Given the description of an element on the screen output the (x, y) to click on. 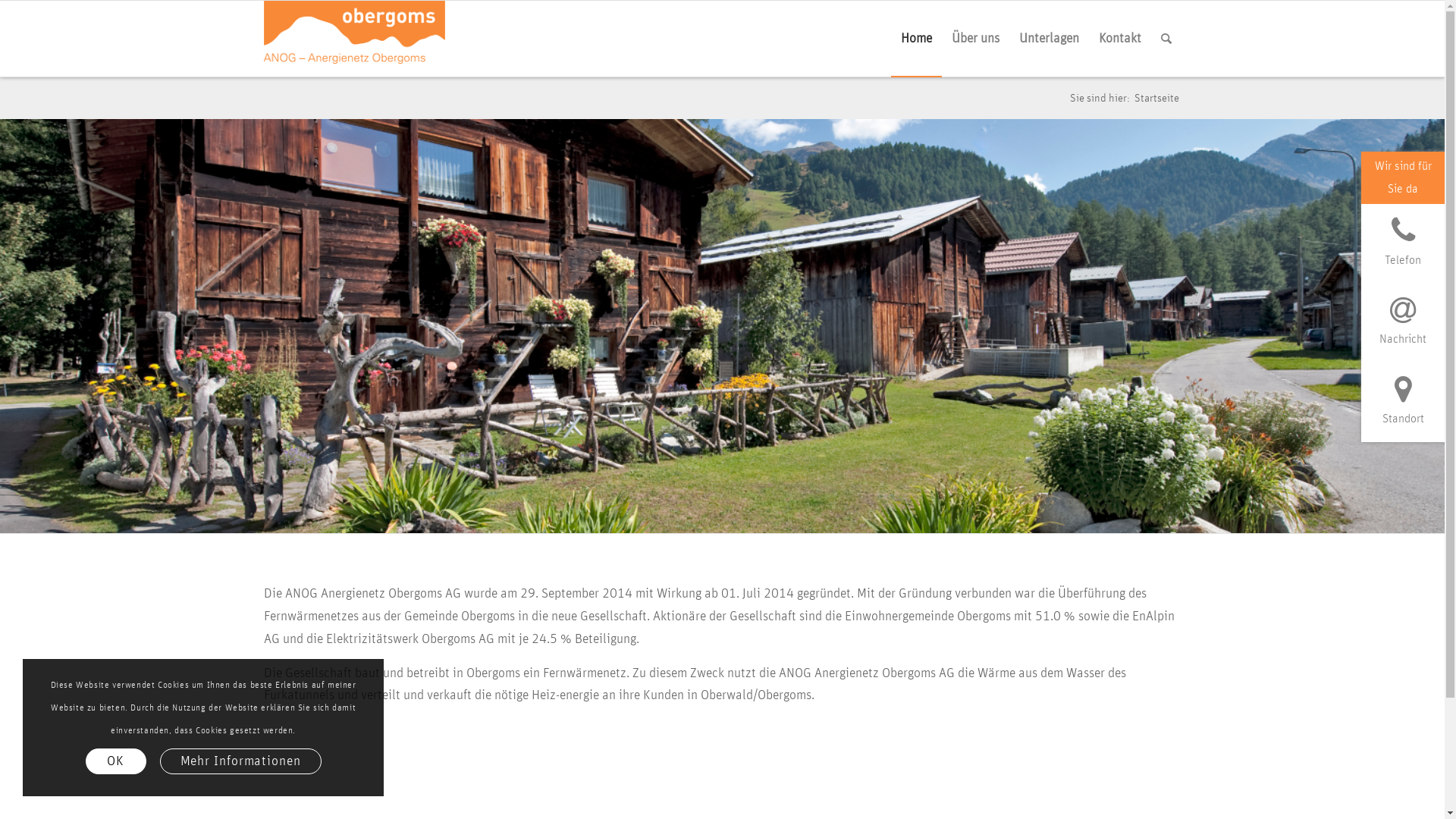
OK Element type: text (115, 761)
Kontakt Element type: text (1119, 38)
DSC_9432 Element type: hover (722, 326)
Unterlagen Element type: text (1048, 38)
Home Element type: text (915, 38)
logo anog Element type: hover (354, 38)
logo anog Element type: hover (354, 31)
Mehr Informationen Element type: text (240, 761)
